Given the description of an element on the screen output the (x, y) to click on. 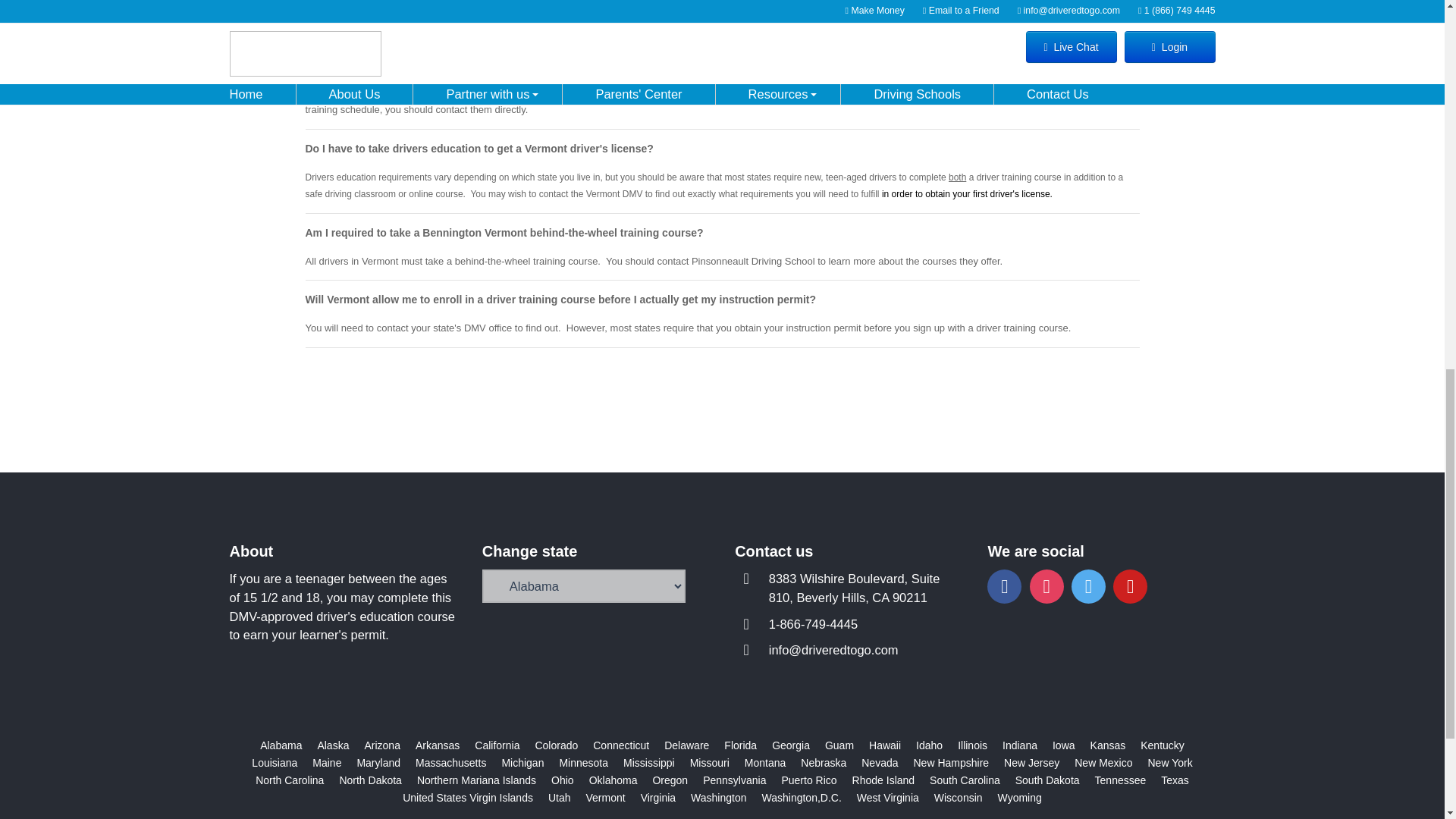
youtube (1130, 586)
Arizona (381, 745)
Colorado (556, 745)
California (496, 745)
instagram (1046, 586)
twitter (1088, 586)
facebook (1004, 586)
Alaska (333, 745)
Alabama (280, 745)
Arkansas (437, 745)
